Given the description of an element on the screen output the (x, y) to click on. 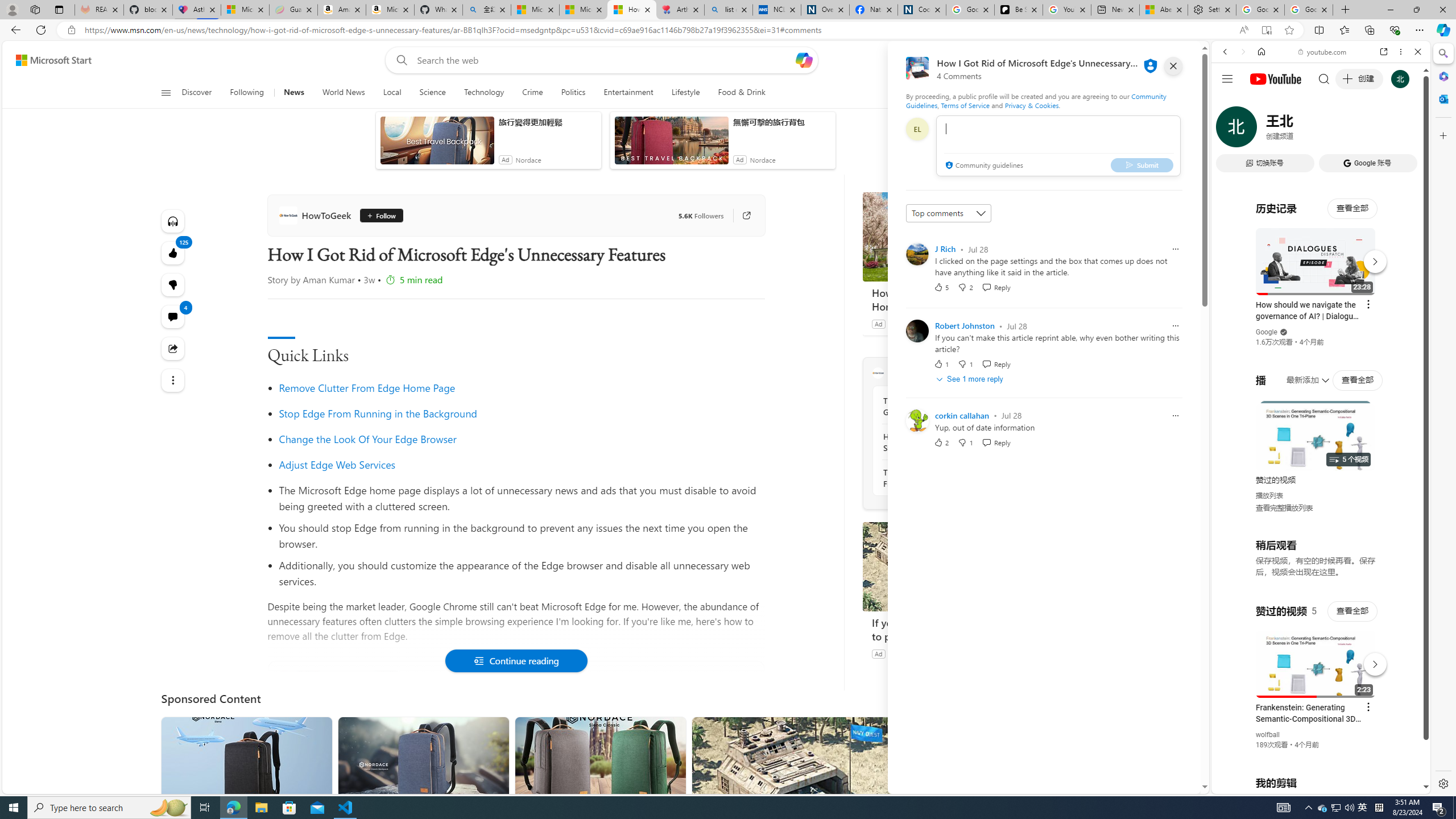
Navy Quest Game (915, 653)
Actions for this site (1371, 661)
Notifications (1152, 60)
Local (391, 92)
Music (1320, 309)
Back (1225, 51)
Read aloud this page (Ctrl+Shift+U) (1243, 29)
Go to publisher's site (740, 215)
NCL Adult Asthma Inhaler Choice Guideline (777, 9)
Aberdeen, Hong Kong SAR hourly forecast | Microsoft Weather (1163, 9)
Be Smart | creating Science videos | Patreon (1019, 9)
Skip to footer (46, 59)
Workspaces (34, 9)
#you (1315, 659)
